Given the description of an element on the screen output the (x, y) to click on. 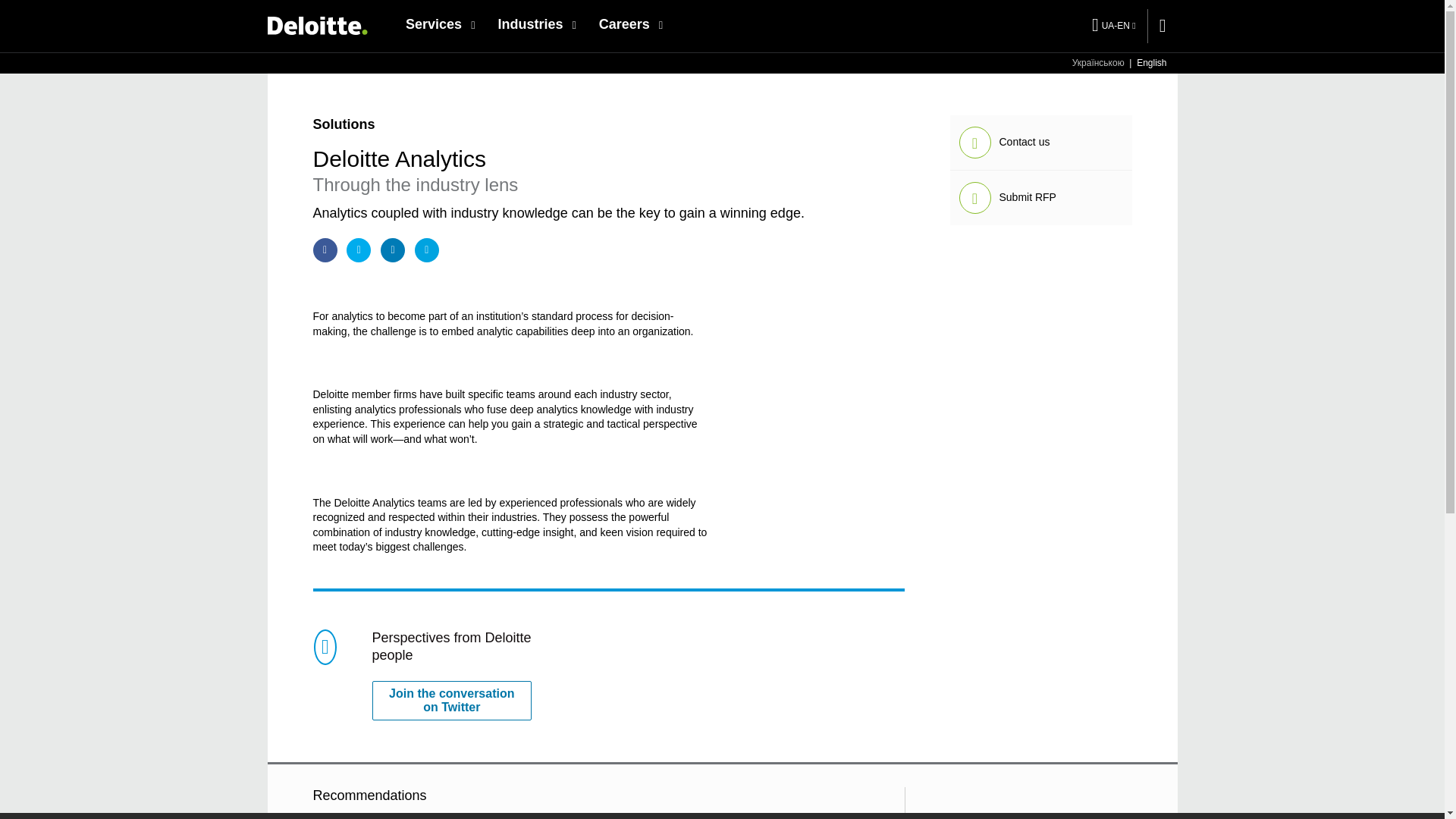
Share via Twitter (358, 250)
Industries (536, 24)
Services (440, 24)
Send via email (426, 250)
Deloitte (316, 25)
Share via Facebook (324, 250)
Share via Linkedin (392, 250)
